Given the description of an element on the screen output the (x, y) to click on. 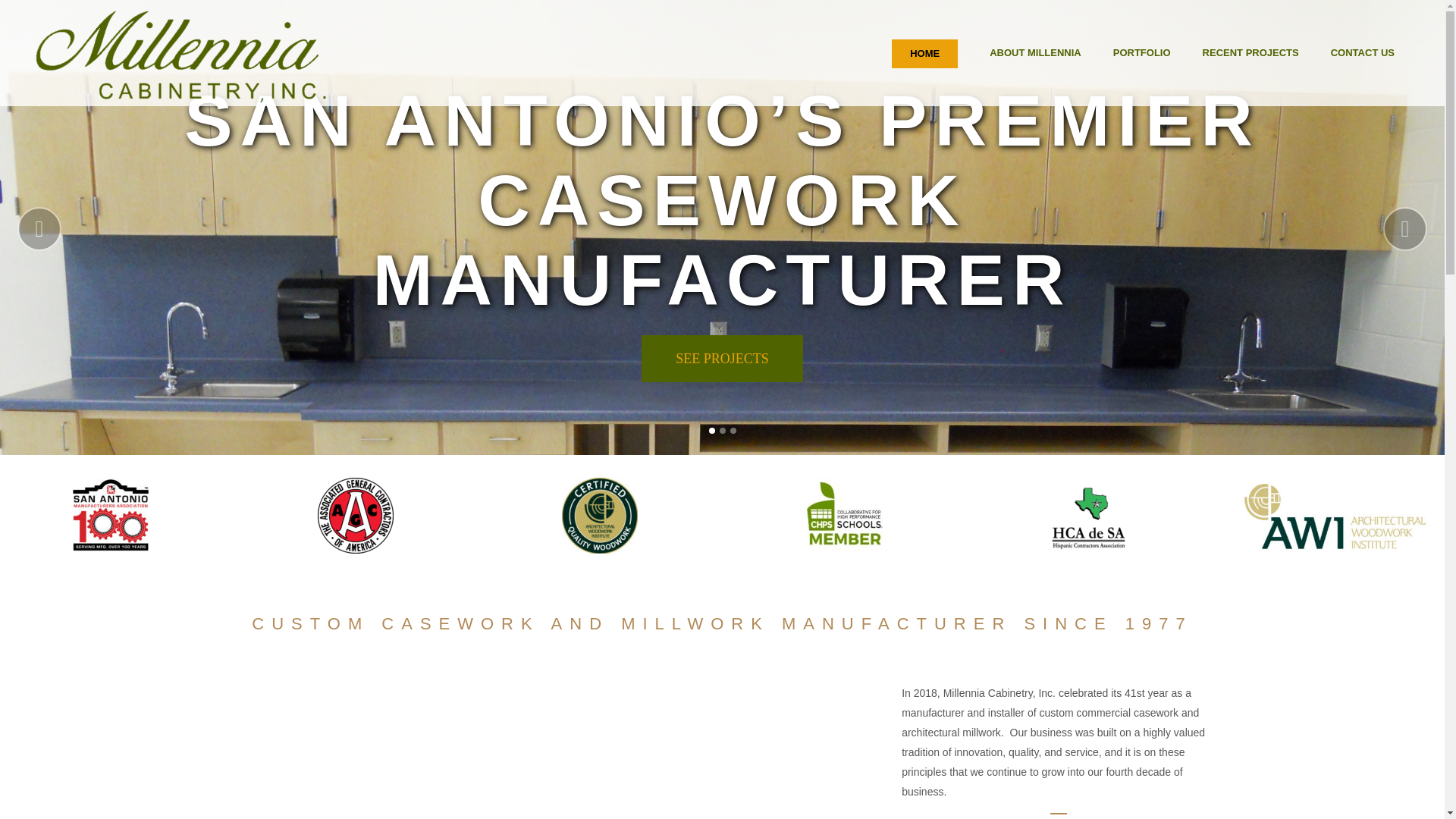
AGC Square 2 (355, 515)
QCPclr (599, 515)
HOME (925, 53)
CONTACT US (1362, 53)
RECENT PROJECTS (1250, 53)
CHPS Square (844, 515)
HCA2-cropped (1088, 515)
ABOUT MILLENNIA (1035, 53)
